Given the description of an element on the screen output the (x, y) to click on. 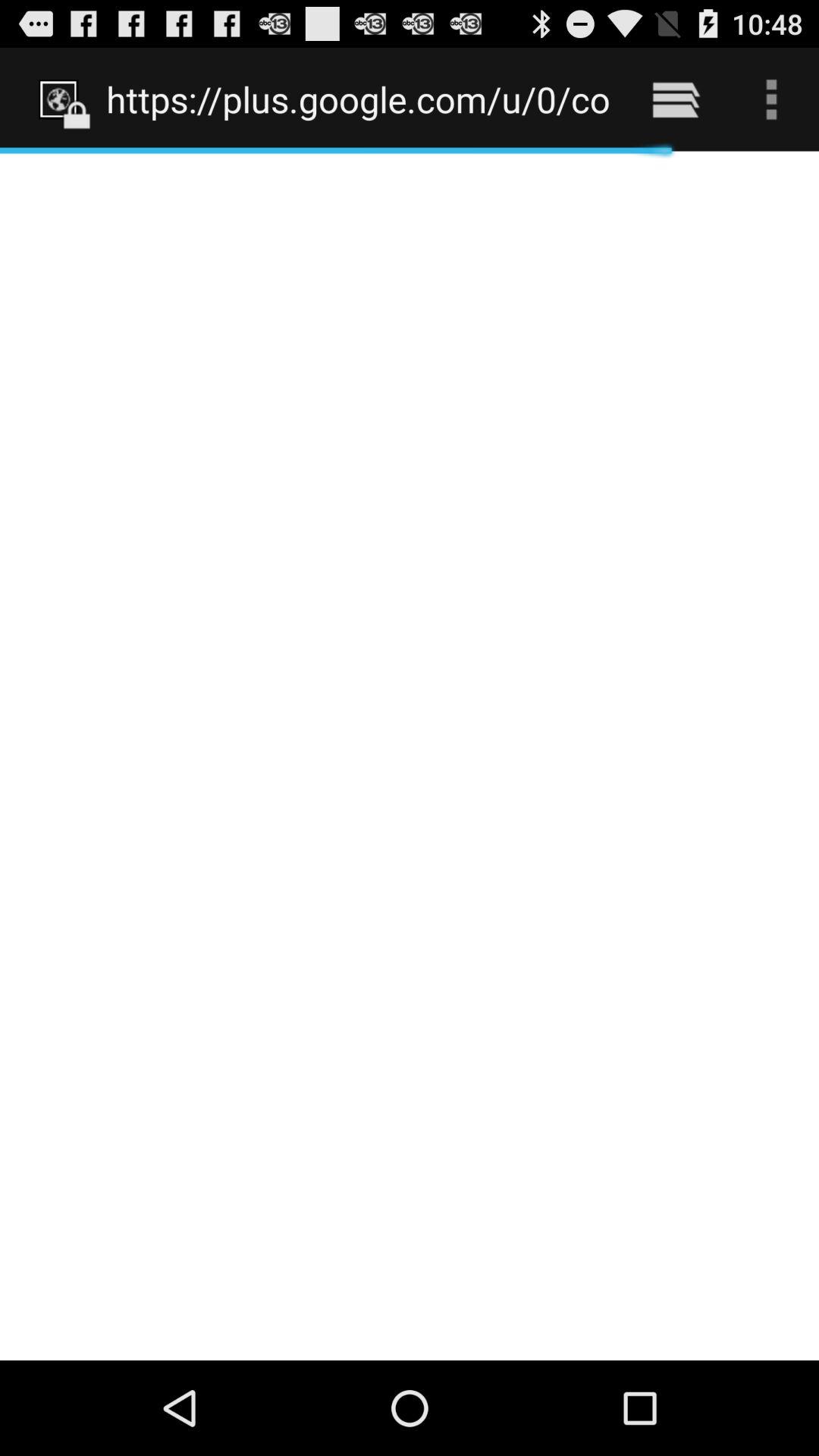
choose the https plus google at the top (357, 99)
